Given the description of an element on the screen output the (x, y) to click on. 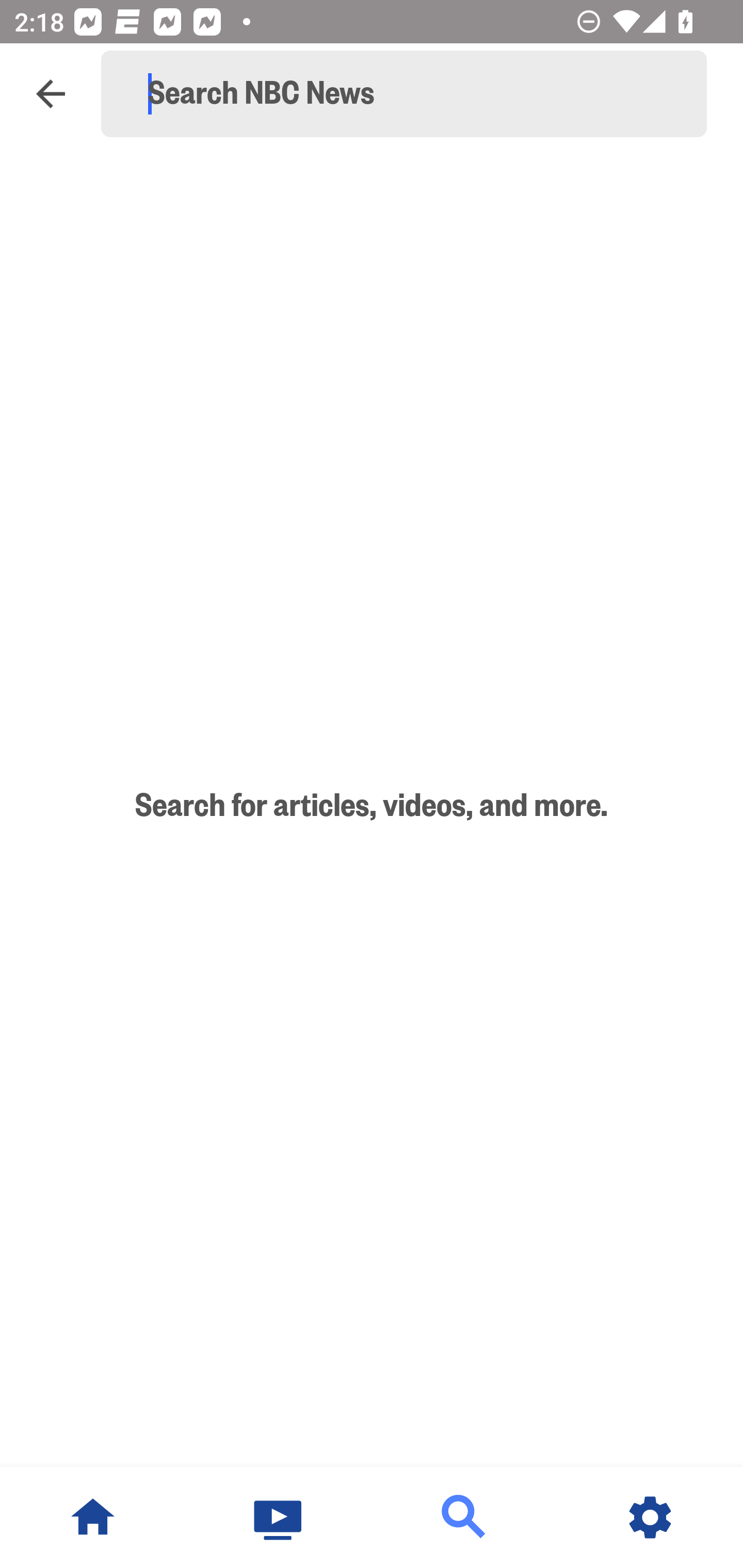
Navigate up (50, 93)
Search NBC News (412, 94)
NBC News Home (92, 1517)
Watch (278, 1517)
Settings (650, 1517)
